Given the description of an element on the screen output the (x, y) to click on. 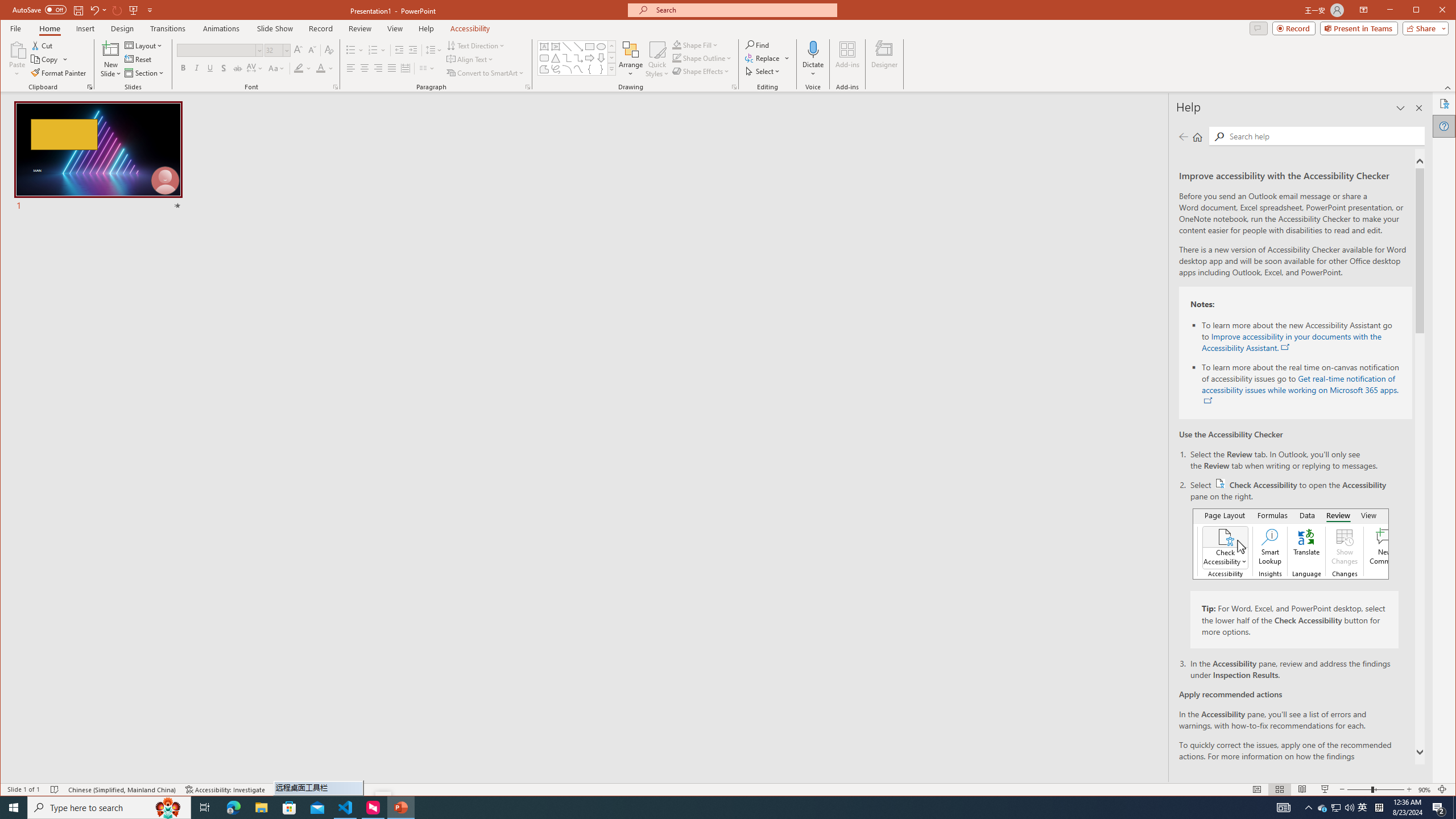
openinnewwindow (1208, 401)
